Given the description of an element on the screen output the (x, y) to click on. 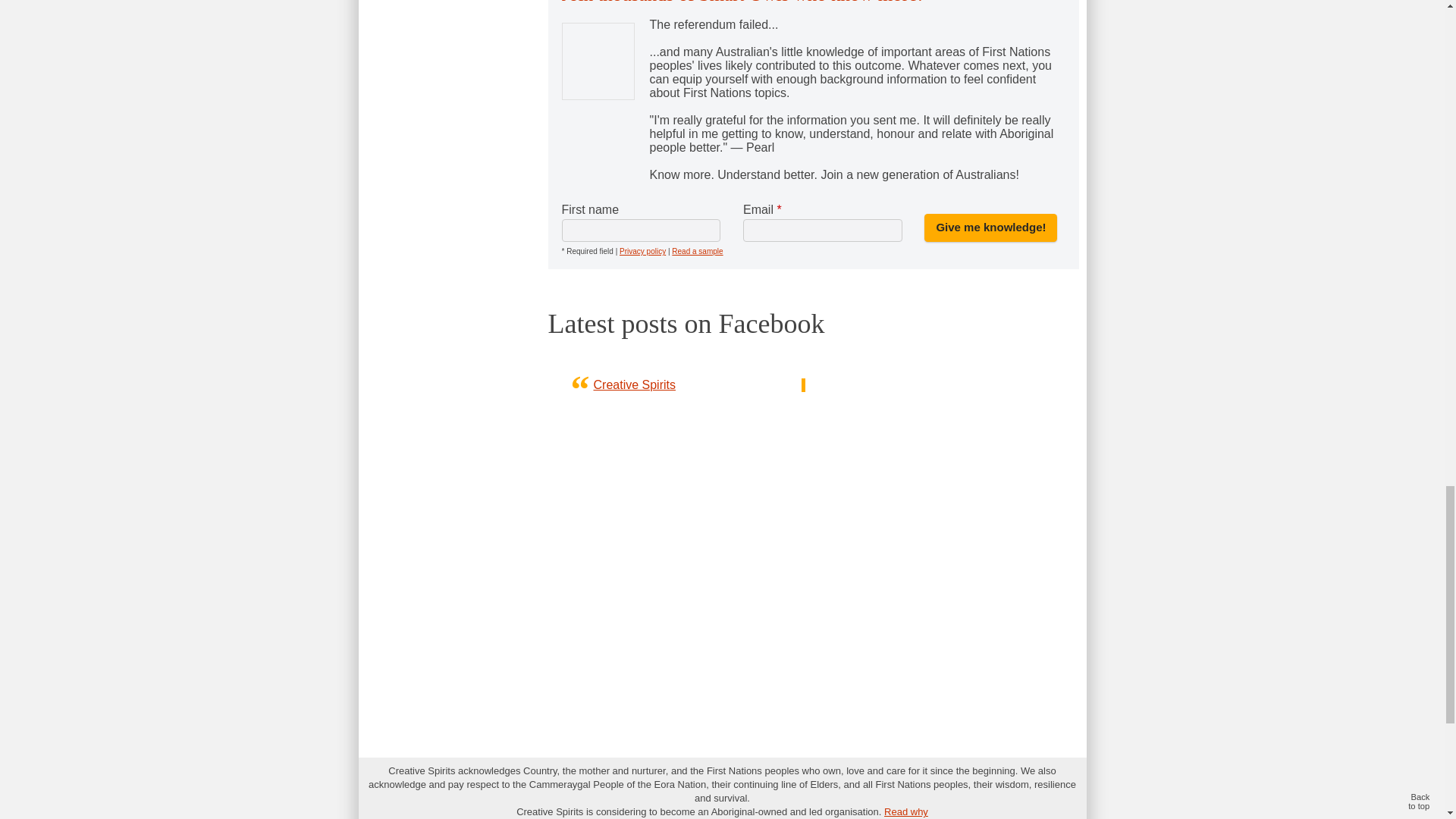
Only alphanumeric characters. Umlauts are fine. (640, 230)
